Given the description of an element on the screen output the (x, y) to click on. 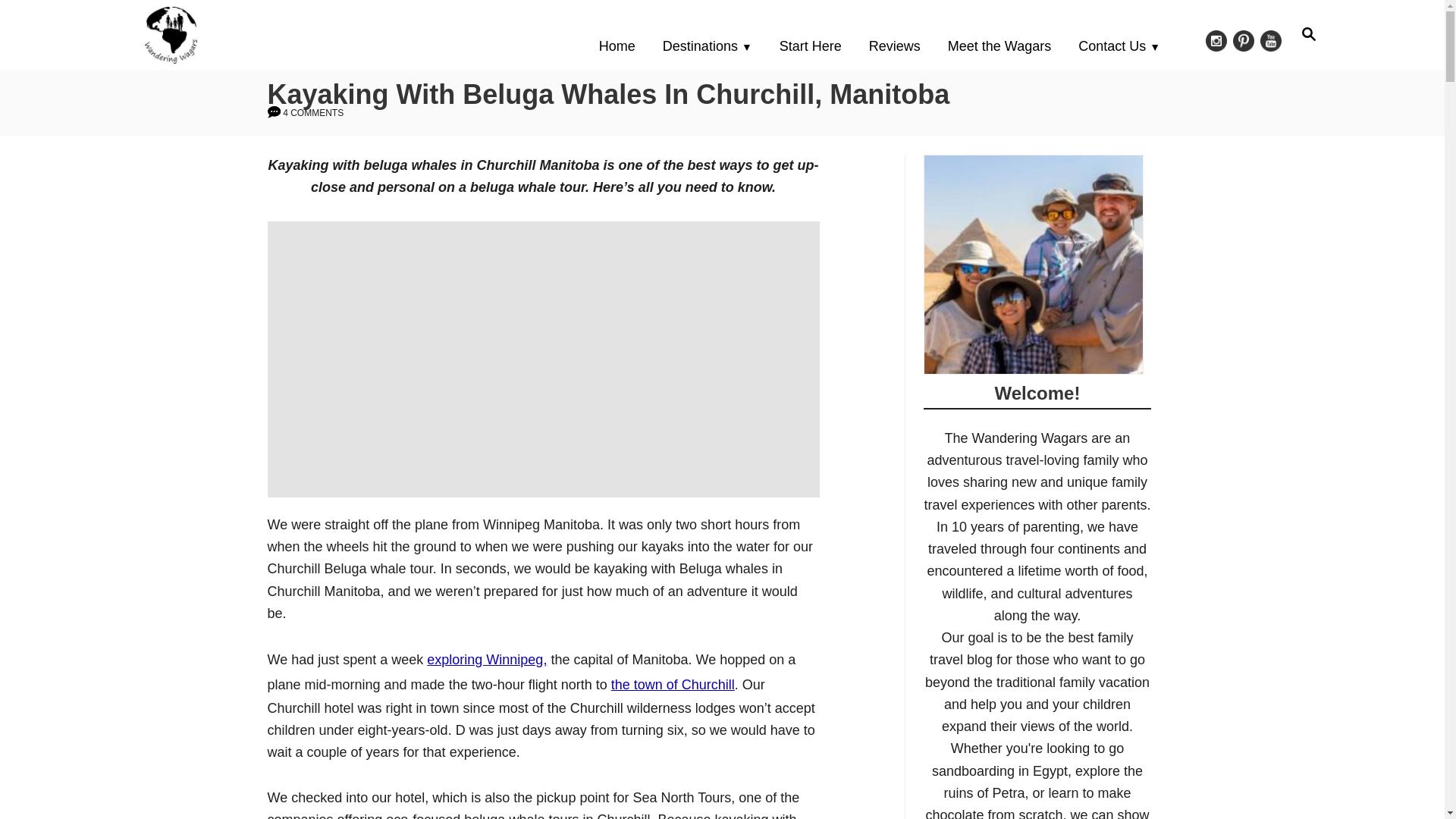
Home (621, 46)
Adventure Family Travel - Wandering Wagars (285, 34)
Magnifying Glass (1308, 34)
Destinations (1308, 33)
